Given the description of an element on the screen output the (x, y) to click on. 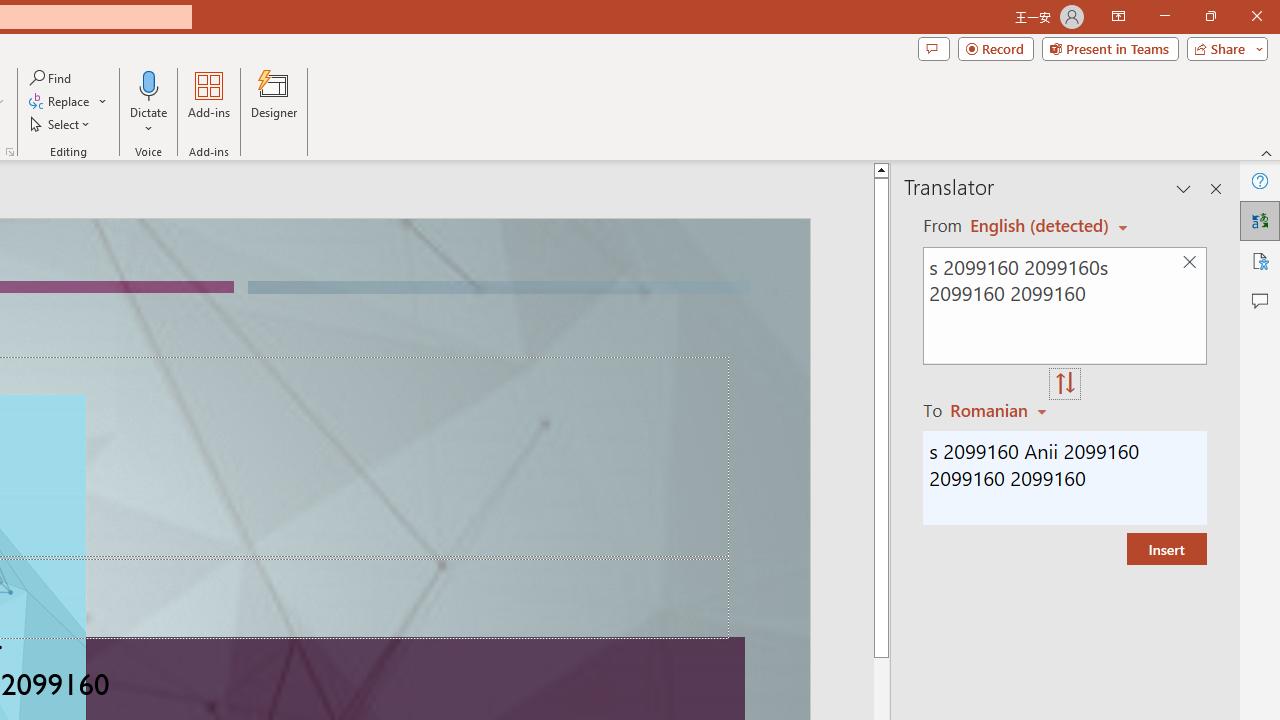
Clear text (1189, 262)
Czech (1001, 409)
Swap "from" and "to" languages. (1065, 383)
Czech (detected) (1039, 225)
